Given the description of an element on the screen output the (x, y) to click on. 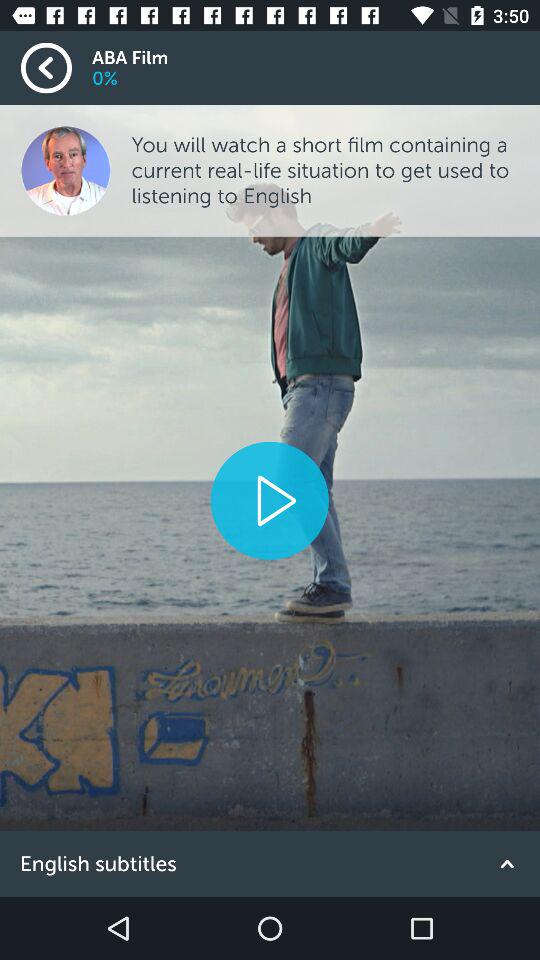
launch item to the left of the aba film item (56, 67)
